Given the description of an element on the screen output the (x, y) to click on. 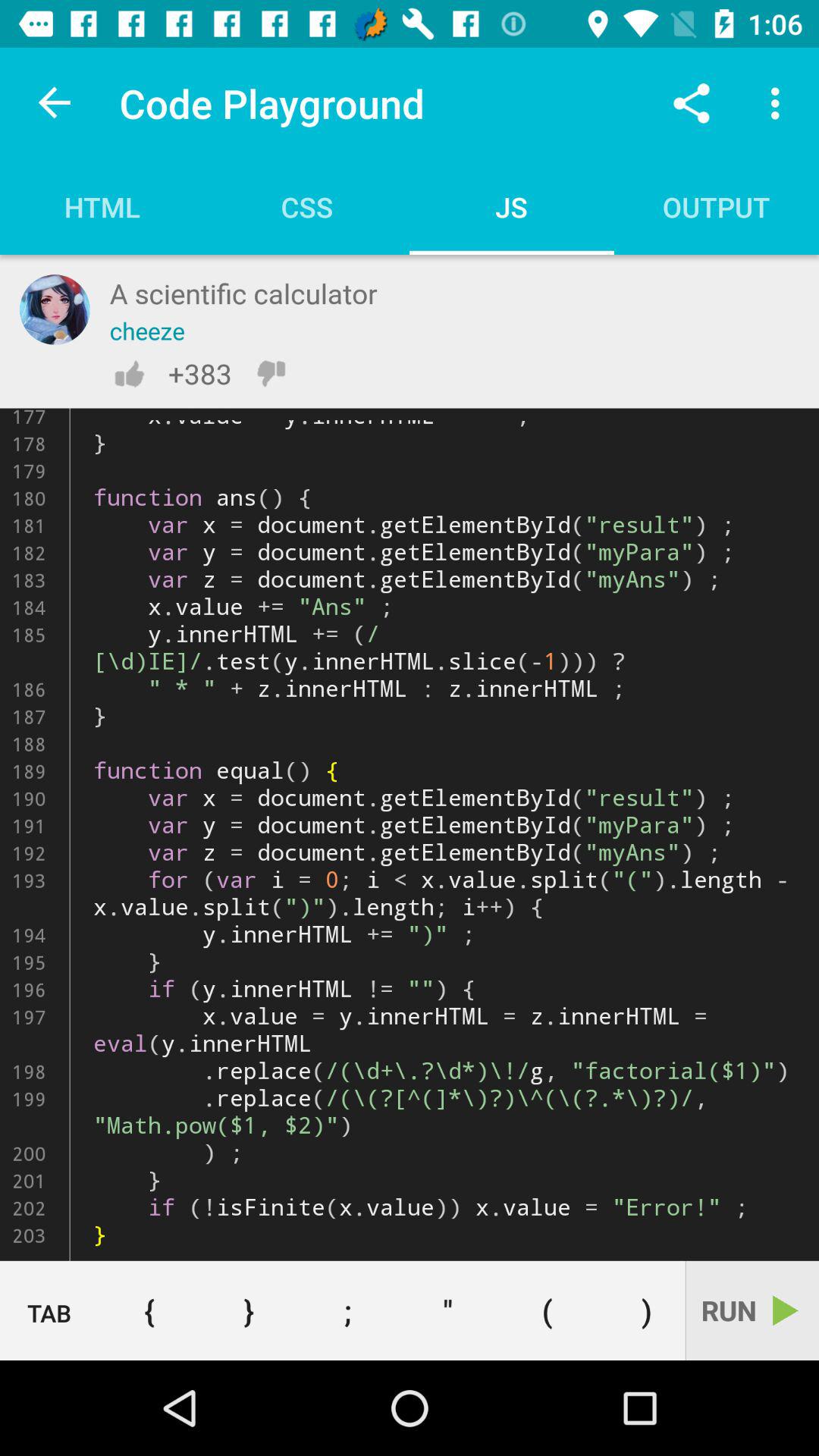
choose item to the left of } item (149, 1310)
